Given the description of an element on the screen output the (x, y) to click on. 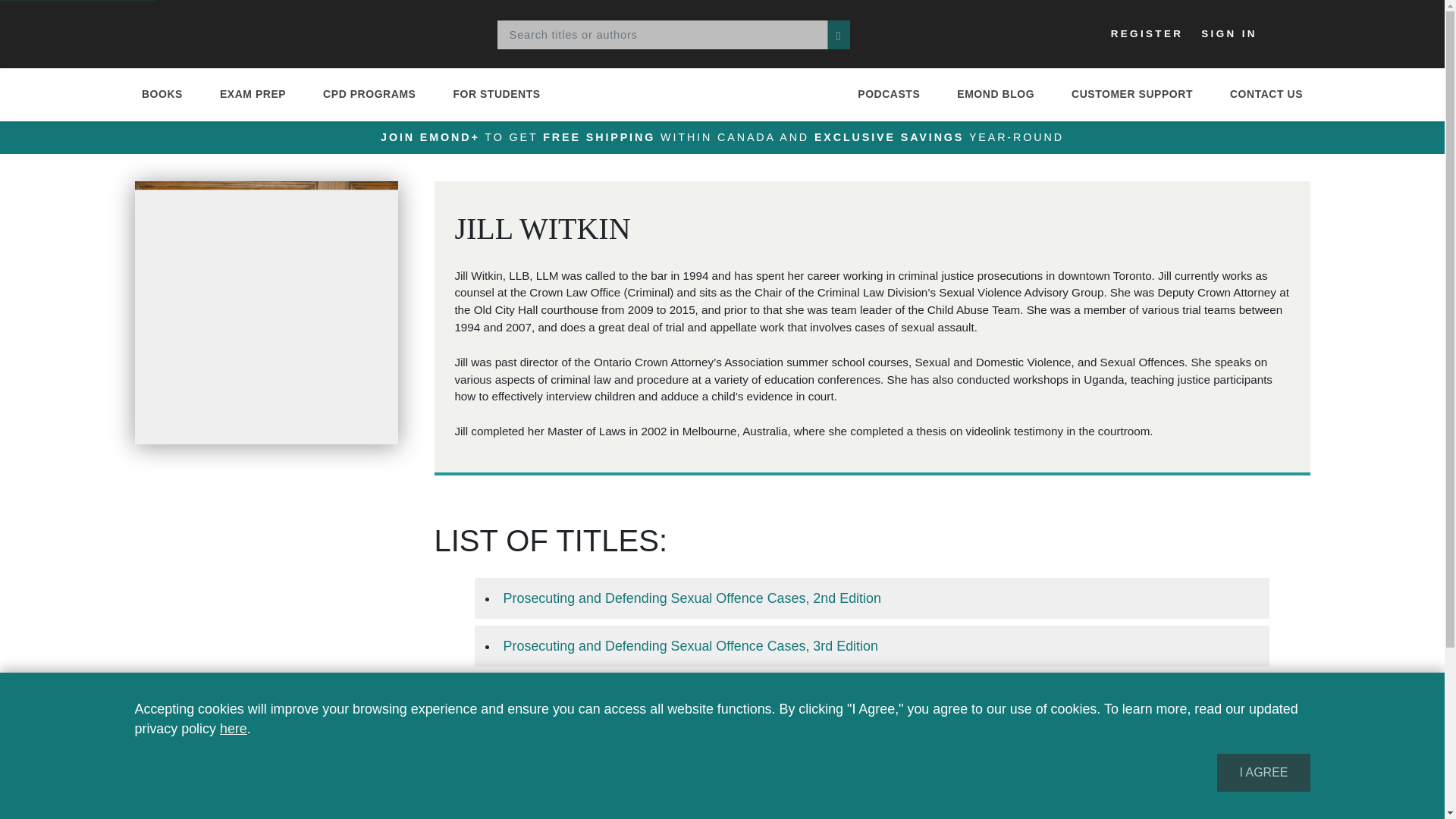
REGISTER (1147, 33)
Twitter (759, 791)
SIGN IN (1229, 33)
LinkedIn (901, 791)
Emond Publishing Inc. (183, 33)
Search (838, 34)
Facebook (828, 791)
I agree (1262, 772)
BOOKS (161, 94)
EMOND (183, 33)
CART (1286, 34)
